Given the description of an element on the screen output the (x, y) to click on. 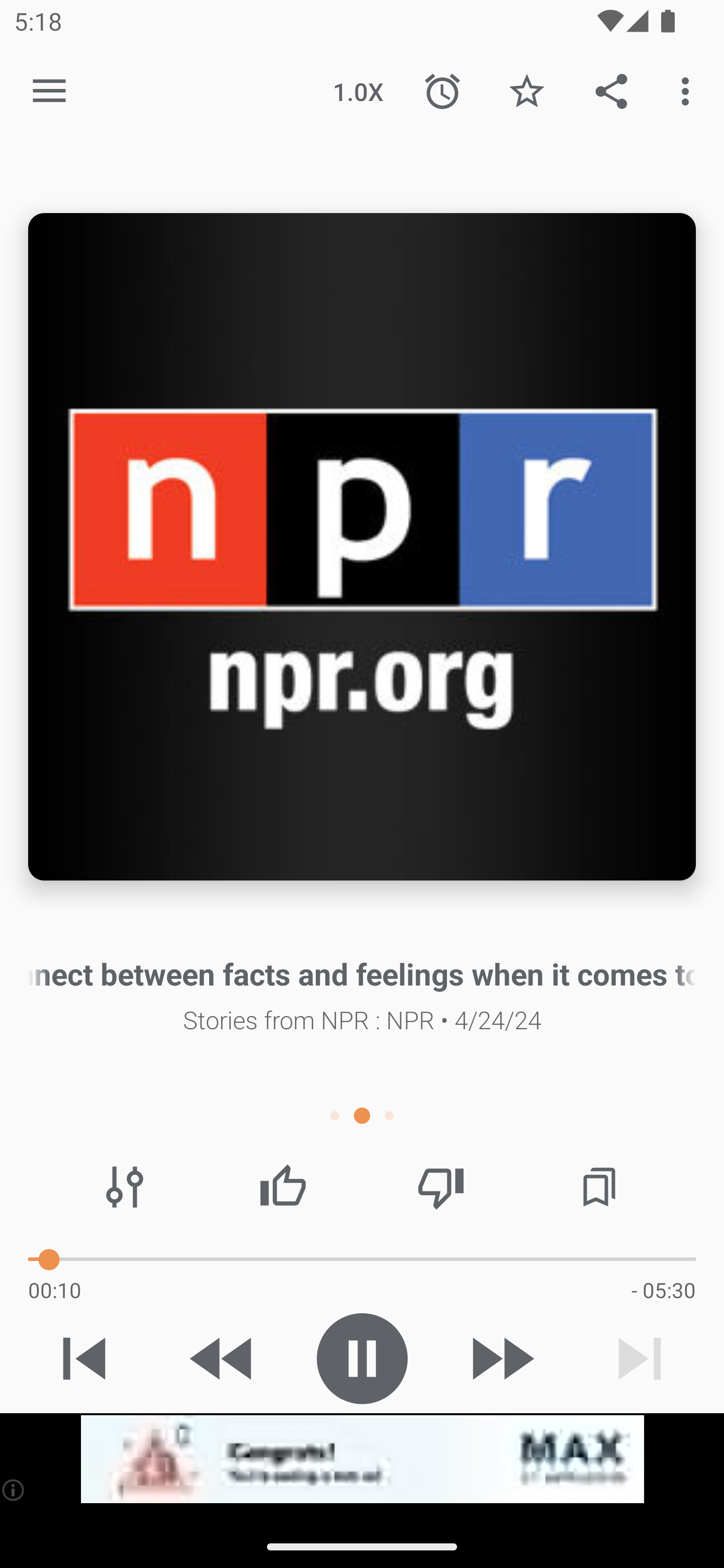
Open navigation sidebar (49, 91)
1.0X (357, 90)
Sleep Timer (442, 90)
Favorite (526, 90)
Share (611, 90)
More options (688, 90)
Episode description (361, 547)
Audio effects (124, 1186)
Thumbs up (283, 1186)
Thumbs down (440, 1186)
Chapters / Bookmarks (598, 1186)
- 05:30 (663, 1289)
Previous track (84, 1358)
Skip 15s backward (222, 1358)
Play / Pause (362, 1358)
Skip 30s forward (500, 1358)
Next track (639, 1358)
app-monetization (362, 1459)
(i) (14, 1489)
